Given the description of an element on the screen output the (x, y) to click on. 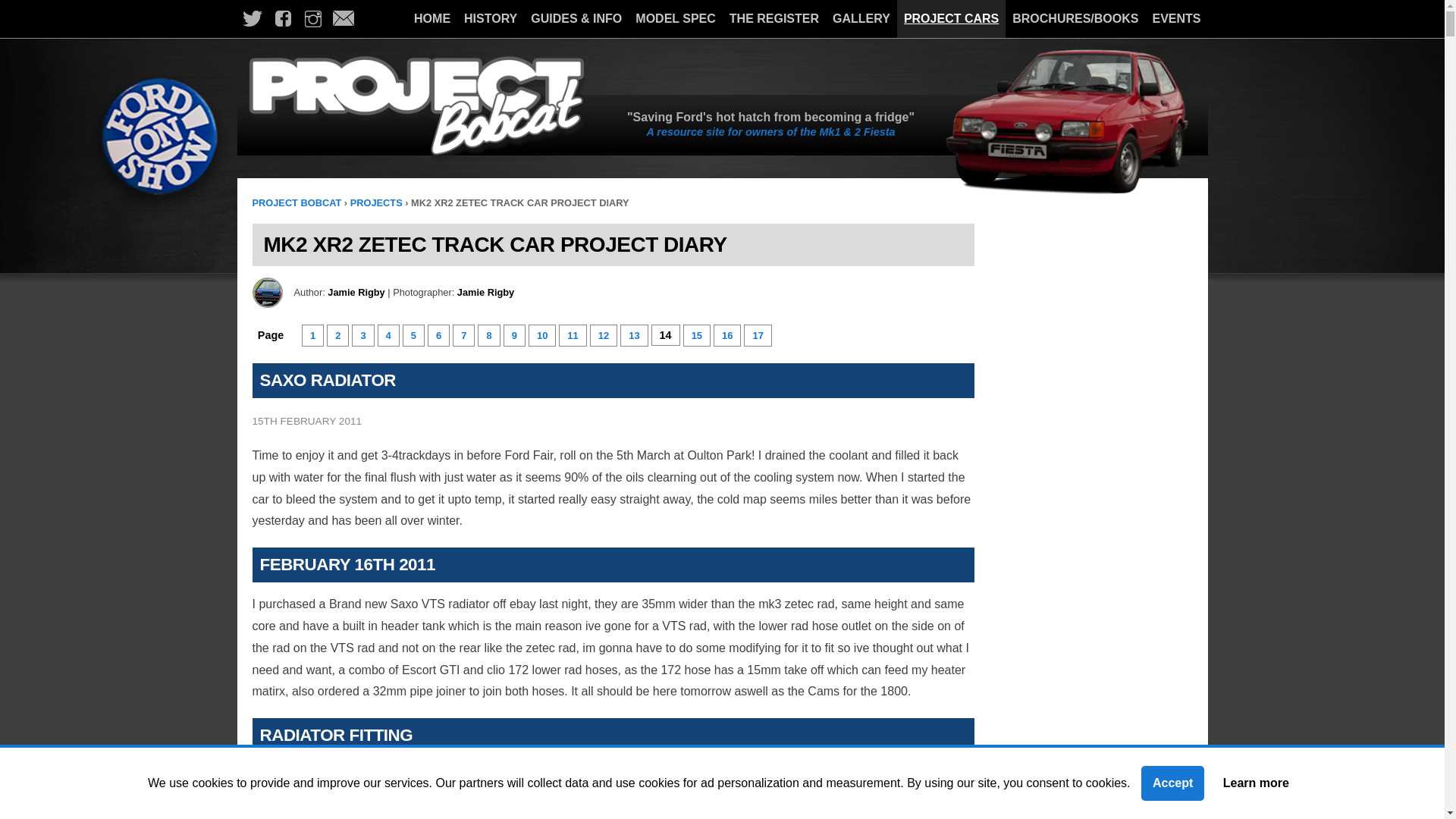
Project Bobcat Instagram (312, 19)
8 (489, 335)
Projects (376, 202)
HISTORY (490, 18)
Project Bobcat Facebook (281, 19)
PROJECT BOBCAT (295, 202)
5 (413, 335)
10 (542, 335)
2 (337, 335)
Project Bobcat Twitter (250, 19)
PROJECT CARS (951, 18)
3 (362, 335)
4 (388, 335)
Email Project Bobcat (342, 19)
6 (438, 335)
